Given the description of an element on the screen output the (x, y) to click on. 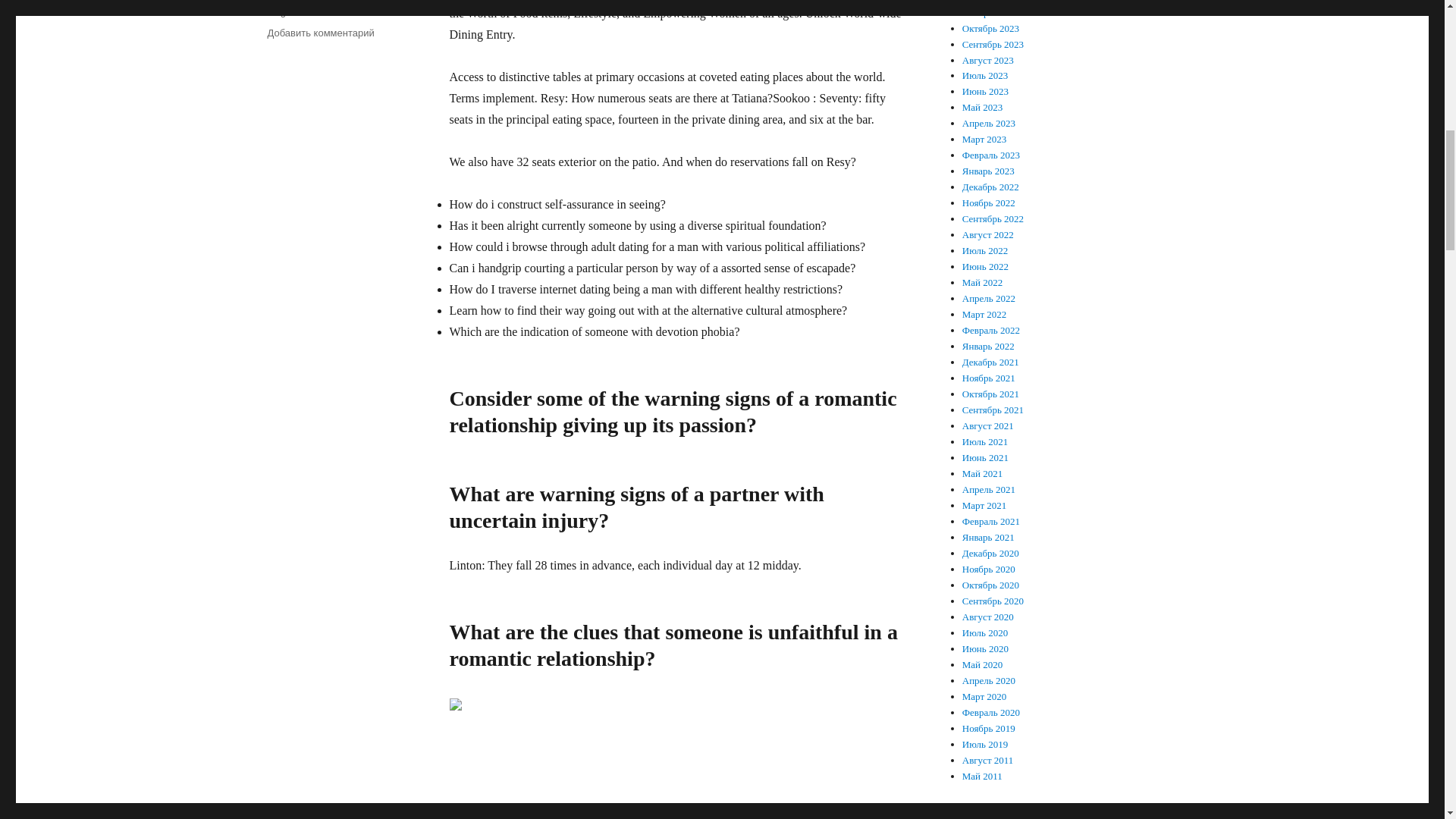
blog (275, 11)
